Given the description of an element on the screen output the (x, y) to click on. 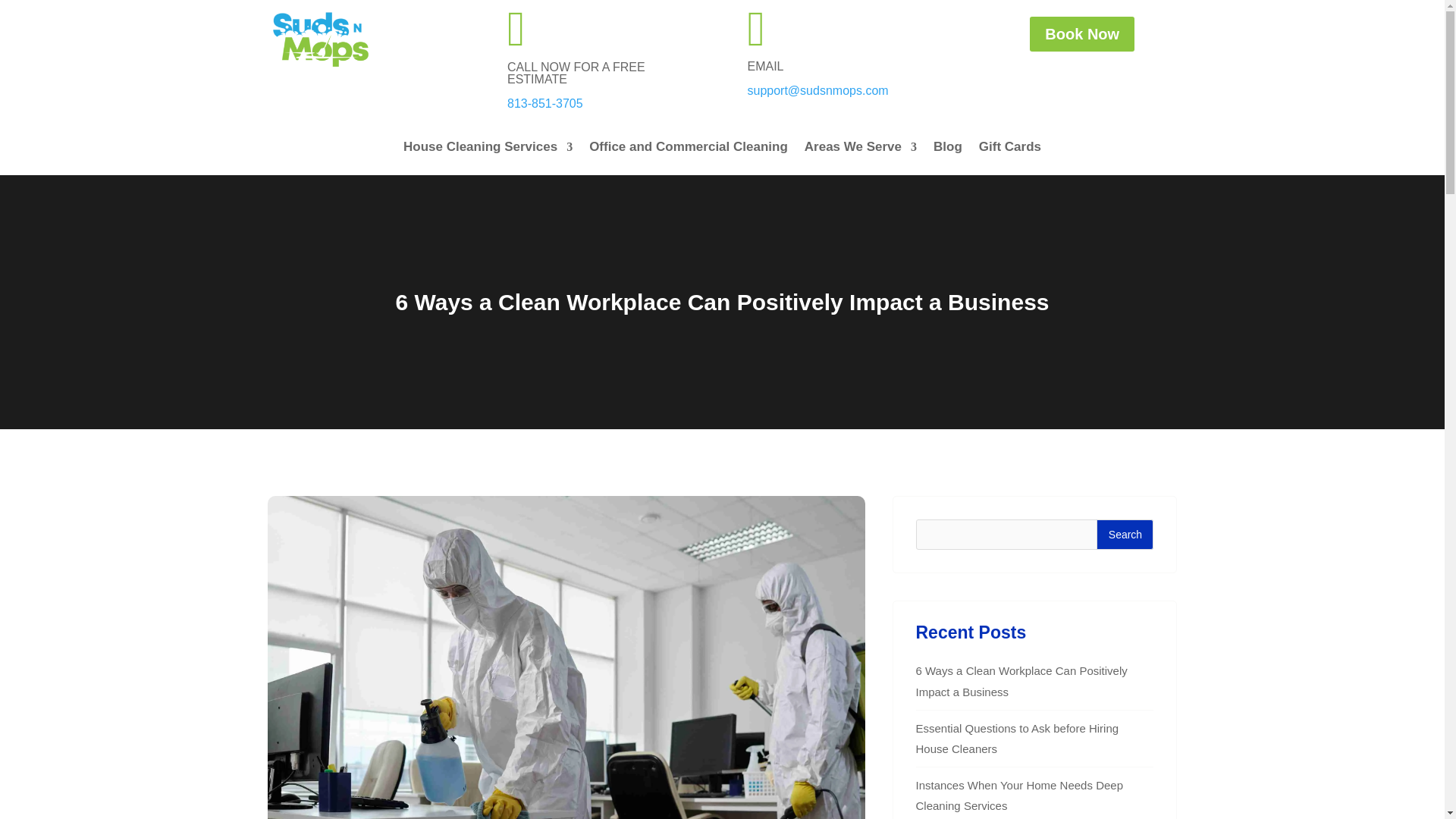
Office and Commercial Cleaning (688, 149)
Book Now (1081, 33)
Blog (947, 149)
House Cleaning Services (487, 149)
Gift Cards (1009, 149)
813-851-3705 (544, 103)
Areas We Serve (861, 149)
